Given the description of an element on the screen output the (x, y) to click on. 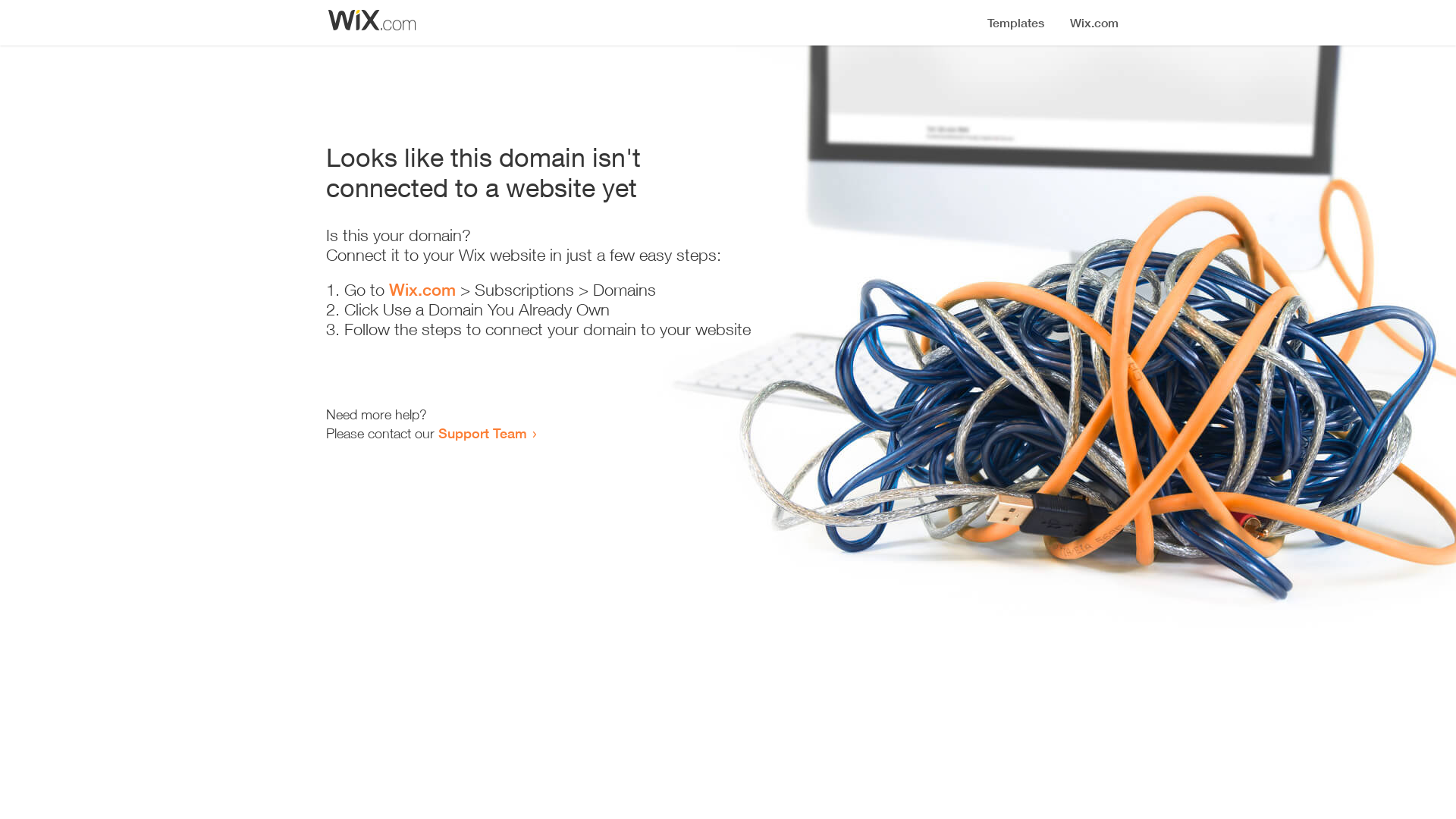
Wix.com Element type: text (422, 289)
Support Team Element type: text (482, 432)
